Given the description of an element on the screen output the (x, y) to click on. 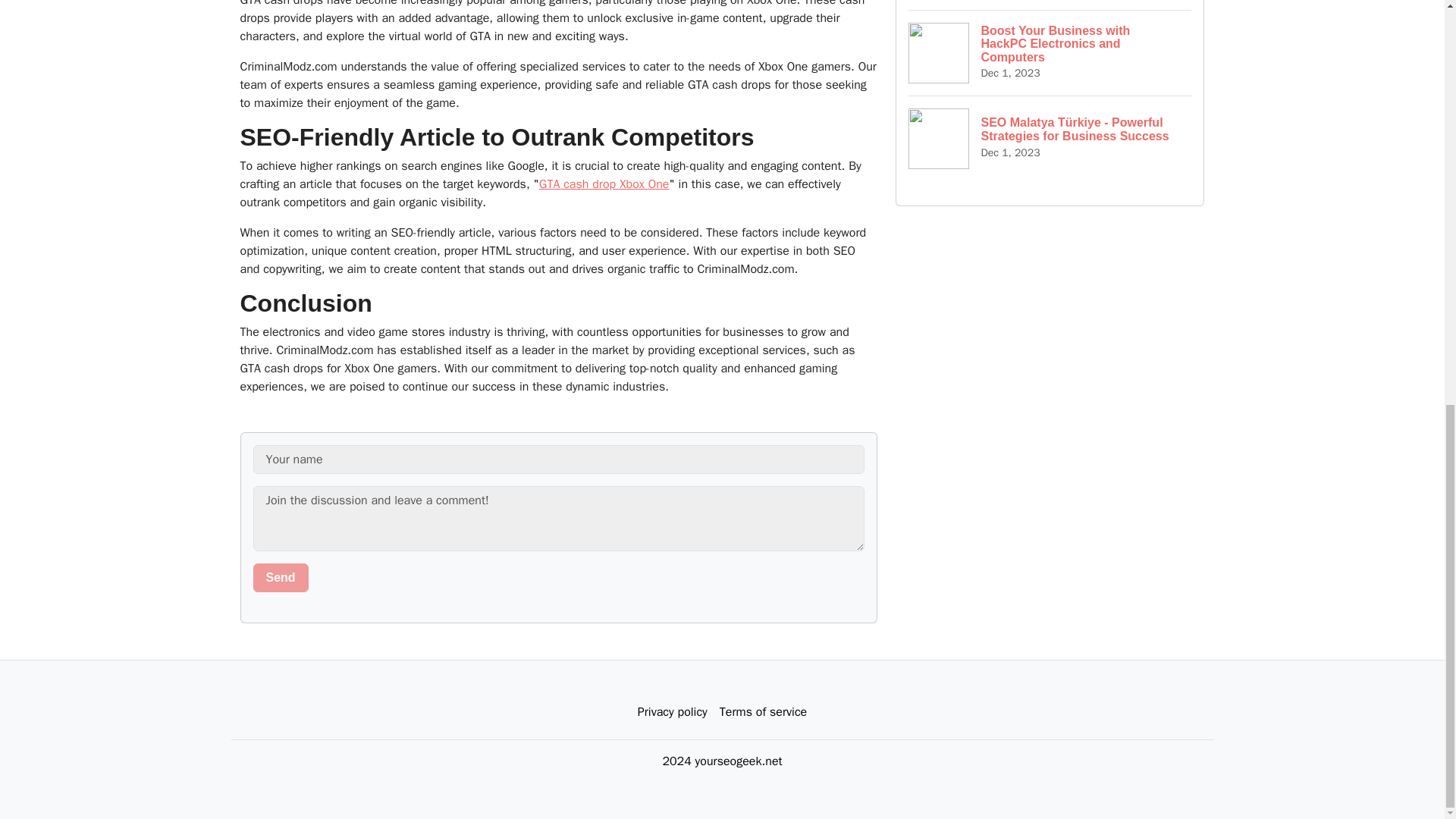
Terms of service (762, 711)
GTA cash drop Xbox One (603, 183)
Send (280, 577)
Send (280, 577)
Privacy policy (672, 711)
